Given the description of an element on the screen output the (x, y) to click on. 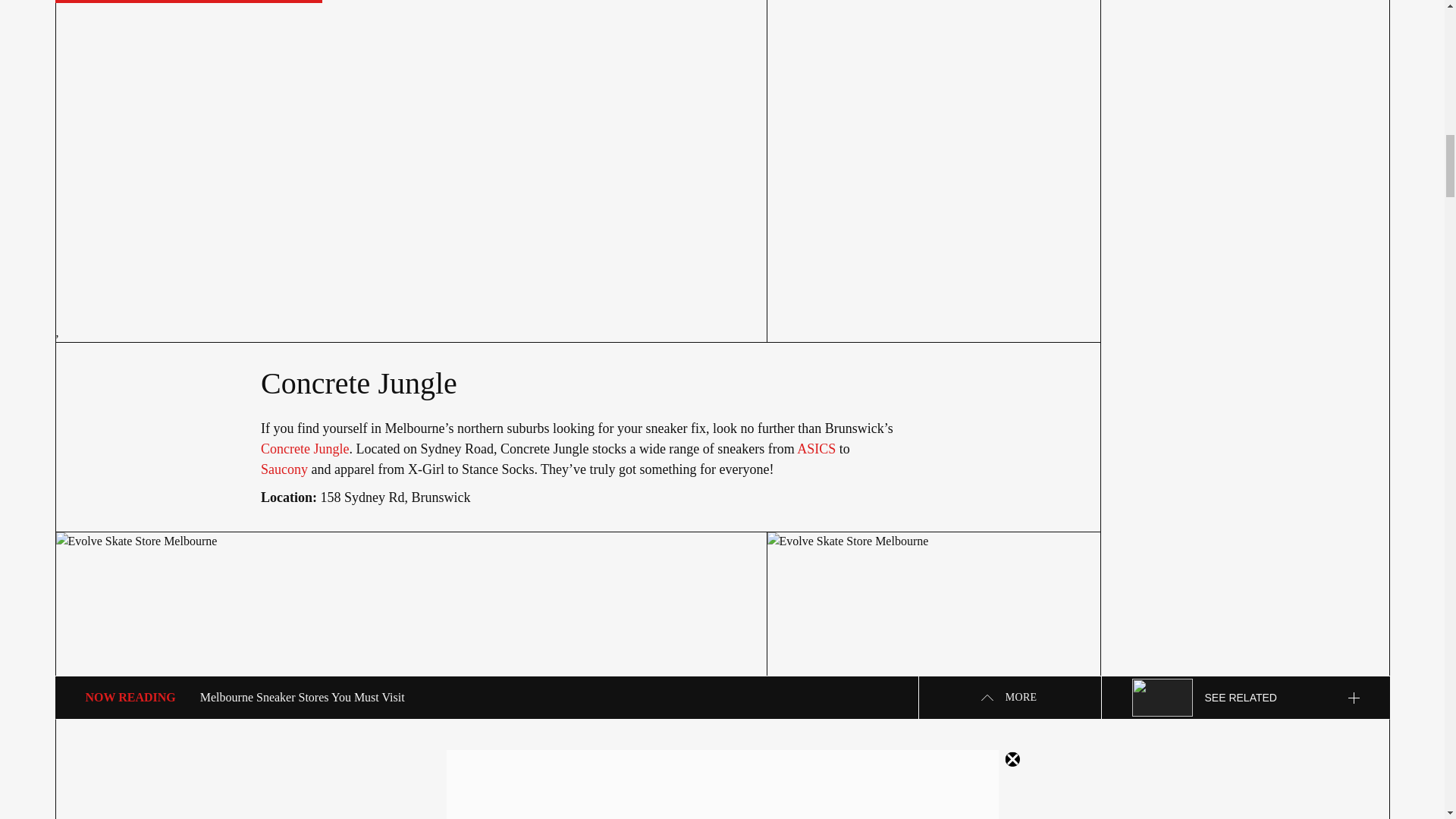
ASICS (815, 448)
Saucony (283, 468)
Concrete Jungle (304, 448)
